Given the description of an element on the screen output the (x, y) to click on. 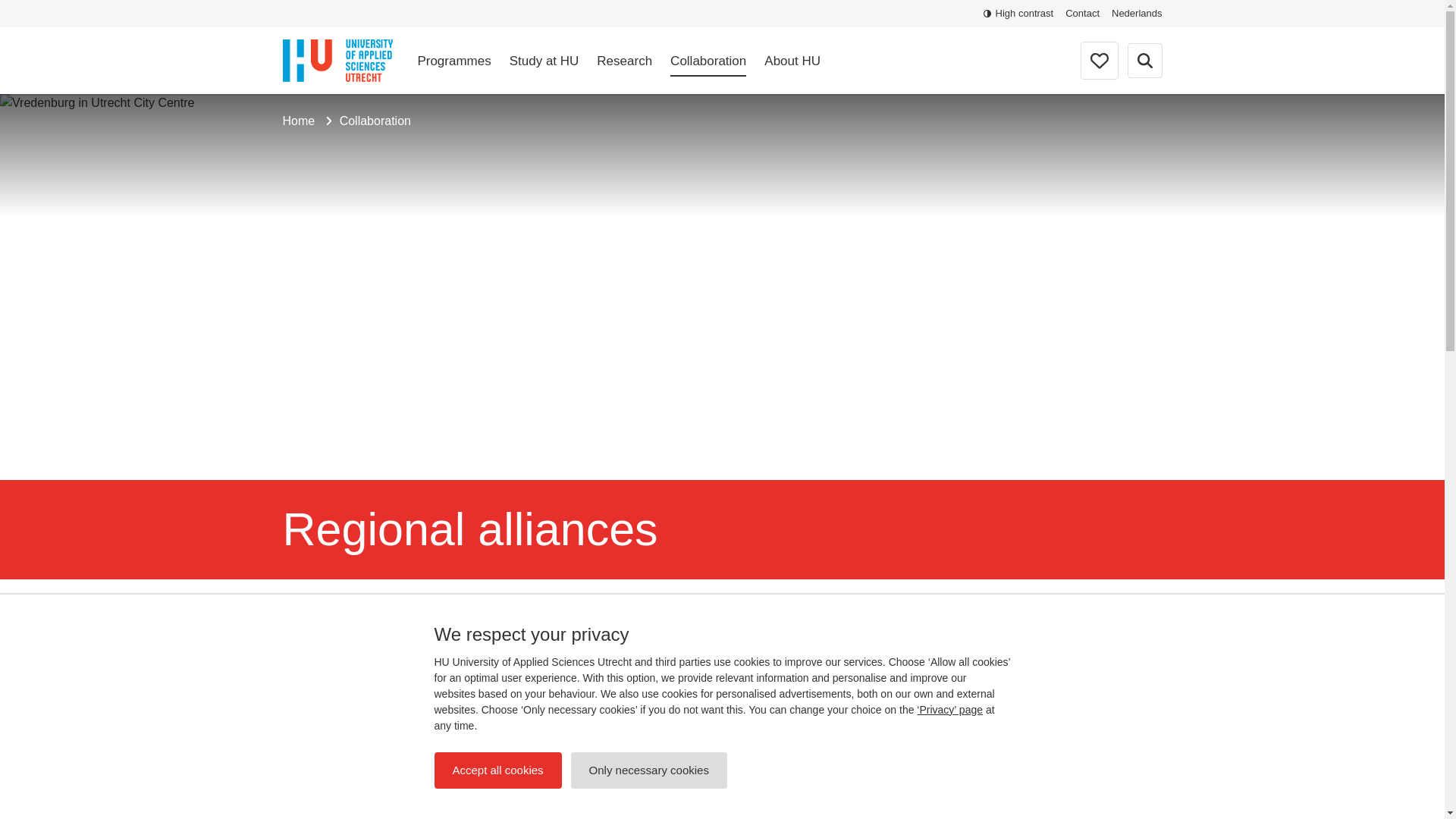
High contrast (1019, 13)
Study at HU (544, 60)
Accept all cookies (496, 770)
Nederlands (1136, 13)
Programmes (453, 60)
Contact (1082, 13)
Research (624, 60)
Only necessary cookies (648, 770)
